Given the description of an element on the screen output the (x, y) to click on. 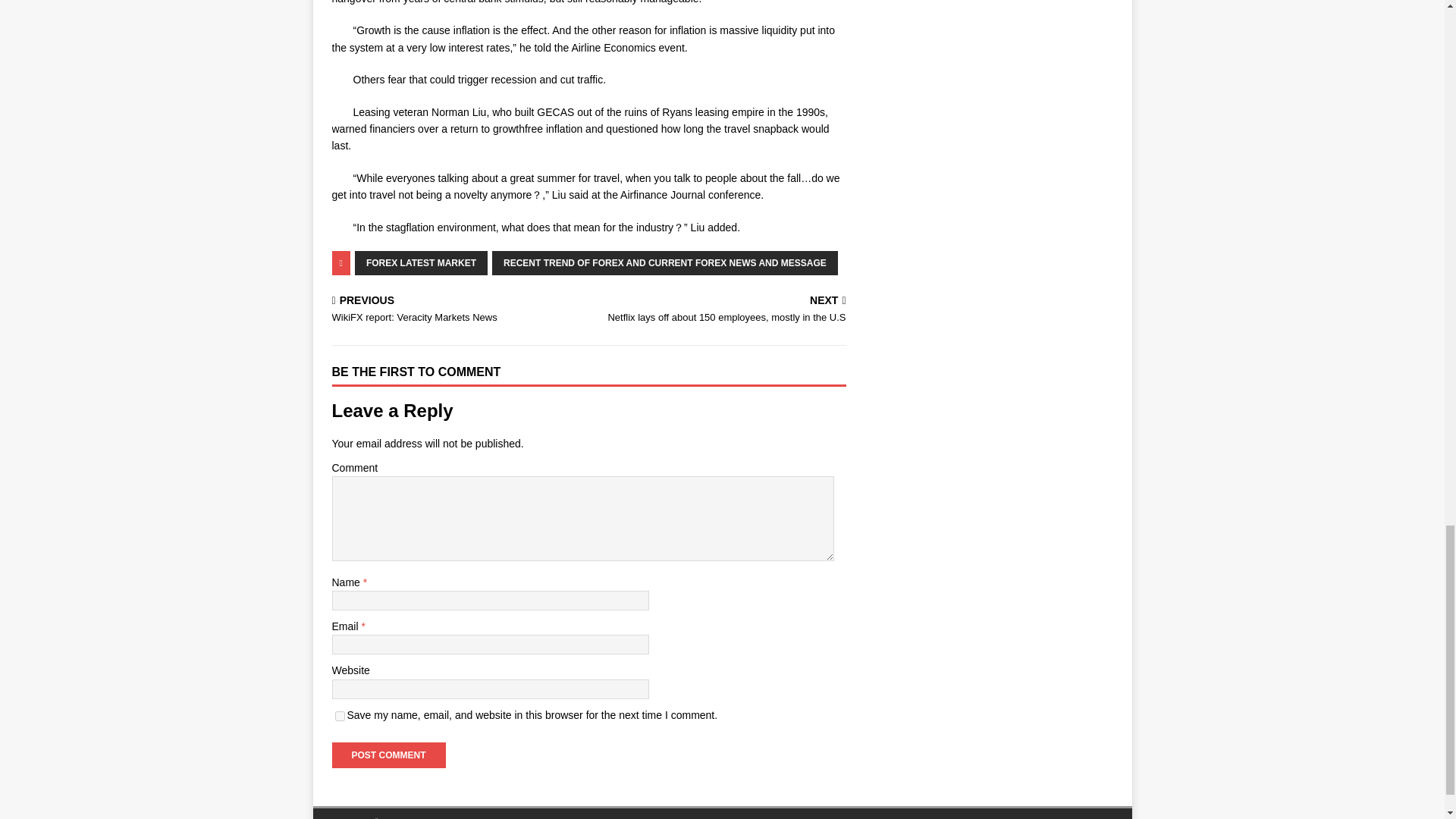
FOREX LATEST MARKET (457, 309)
Post Comment (421, 262)
RECENT TREND OF FOREX AND CURRENT FOREX NEWS AND MESSAGE (720, 309)
yes (388, 755)
Post Comment (665, 262)
